Given the description of an element on the screen output the (x, y) to click on. 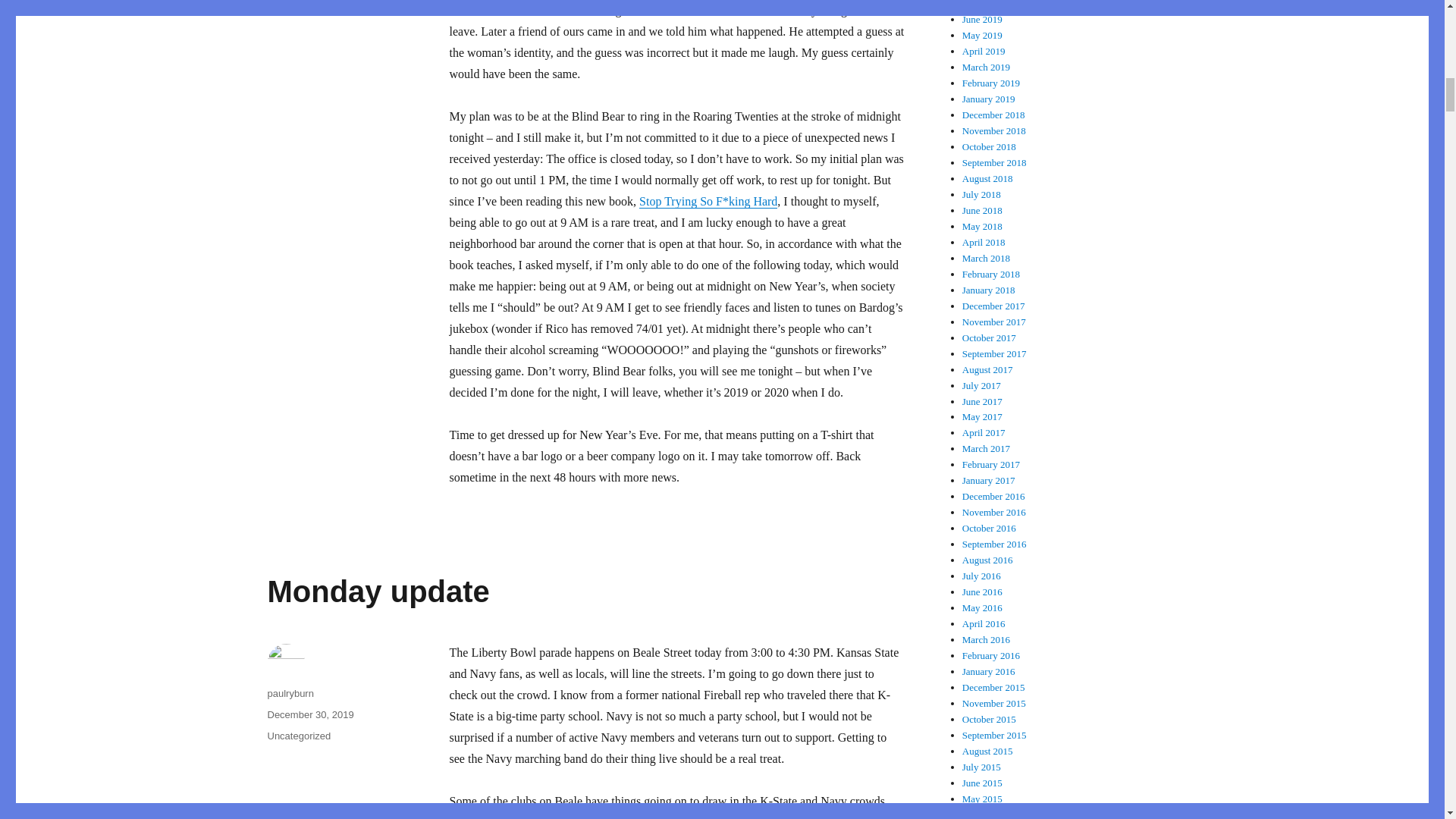
Uncategorized (298, 736)
paulryburn (289, 693)
Monday update (377, 591)
Rodd Bland (477, 817)
December 30, 2019 (309, 714)
